Given the description of an element on the screen output the (x, y) to click on. 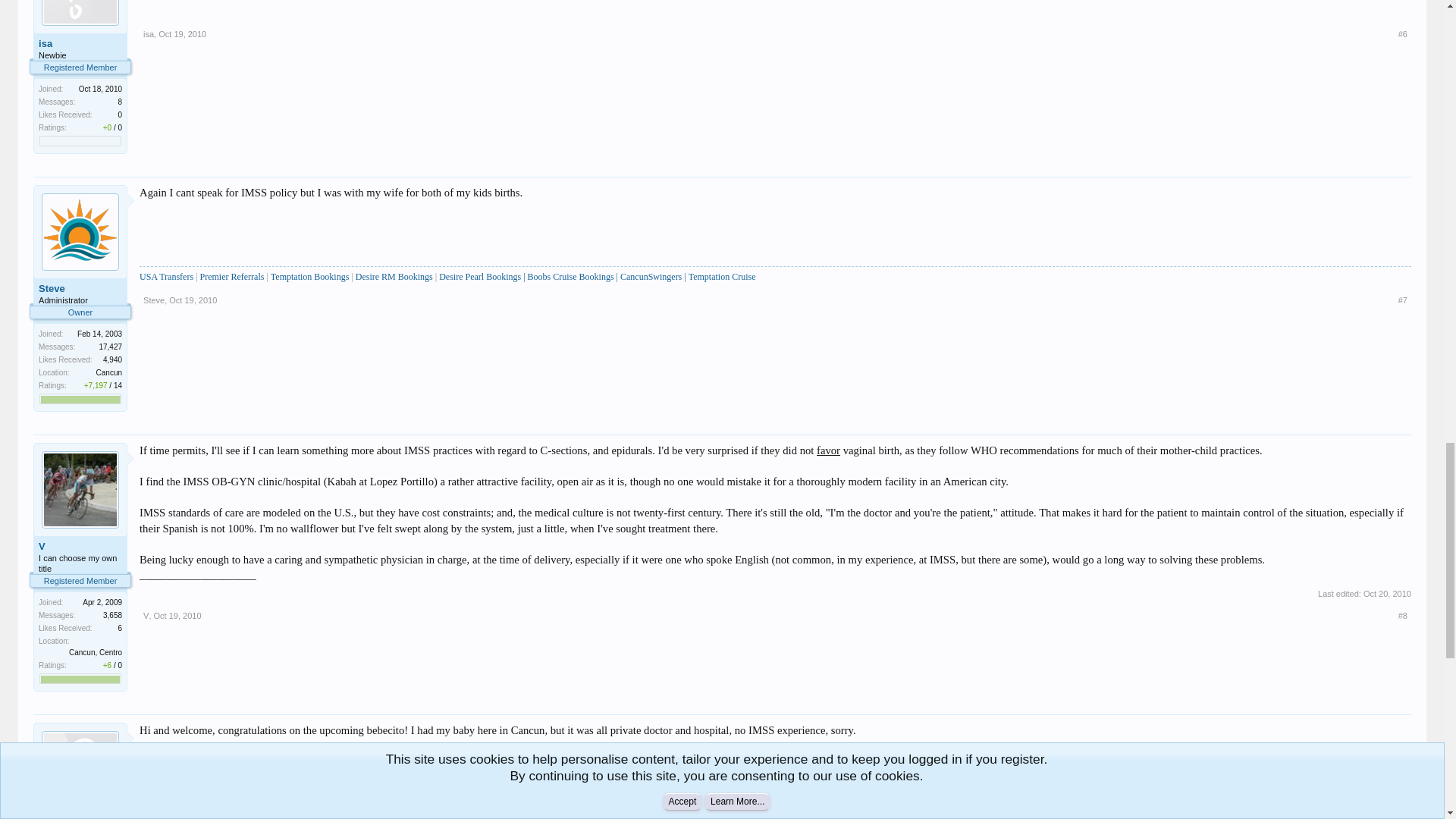
Permalink (182, 33)
